Given the description of an element on the screen output the (x, y) to click on. 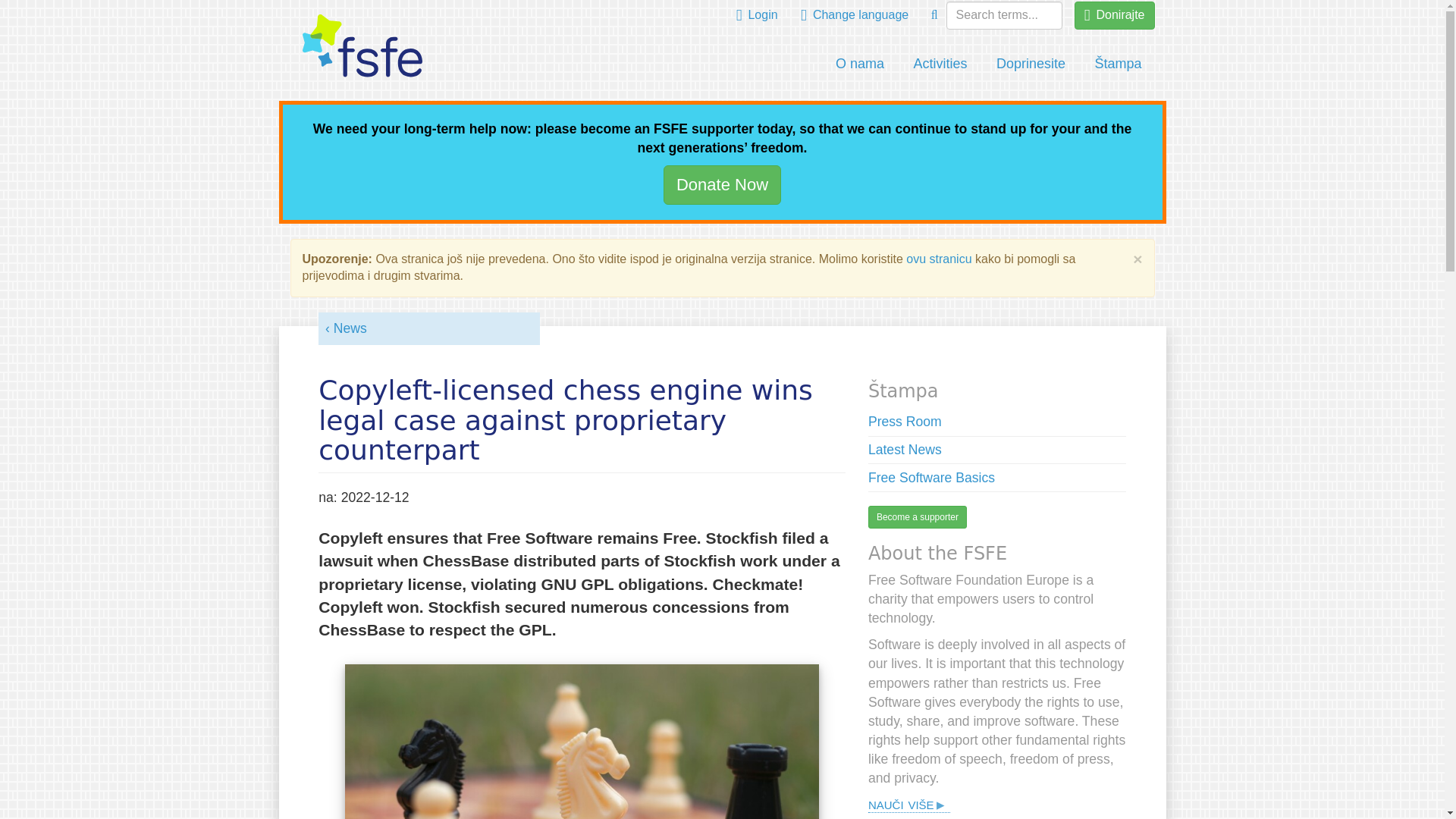
Activities (939, 63)
Press Room (904, 421)
Change language (854, 15)
Donirajte (1114, 15)
News (345, 328)
Donate Now (721, 184)
ovu stranicu (938, 257)
Latest News (904, 449)
Become a supporter (916, 517)
Doprinesite (1031, 63)
Login (756, 15)
O nama (859, 63)
Free Software Basics (930, 477)
